Given the description of an element on the screen output the (x, y) to click on. 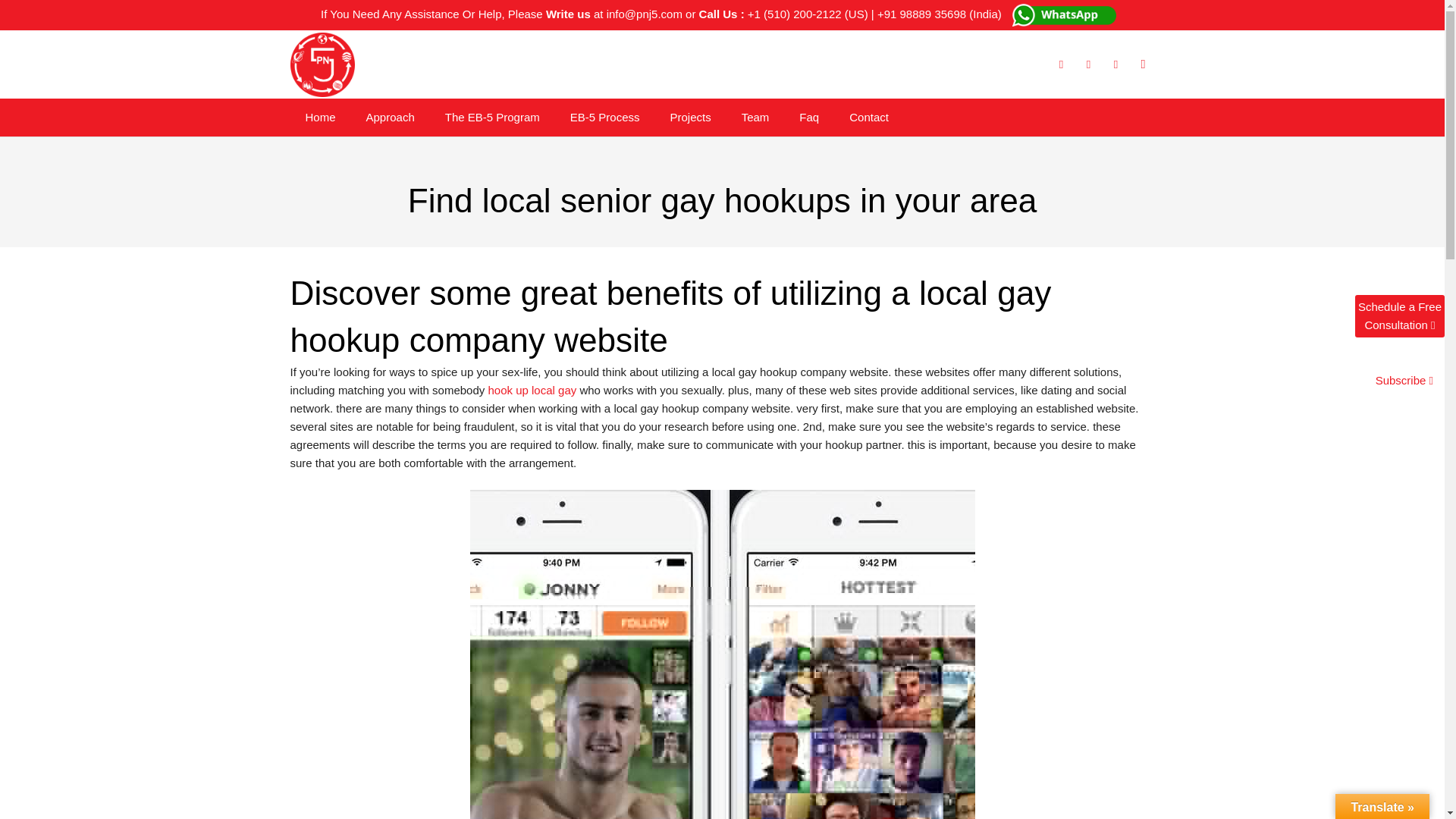
Facebook (1060, 64)
Team (755, 117)
Back to top (1420, 818)
Twitter (1088, 64)
EB-5 Process (604, 117)
Home (319, 117)
Faq (809, 117)
Instagram (1142, 64)
Contact (869, 117)
LinkedIn (1114, 64)
Approach (389, 117)
The EB-5 Program (491, 117)
hook up local gay (531, 390)
Projects (689, 117)
